Given the description of an element on the screen output the (x, y) to click on. 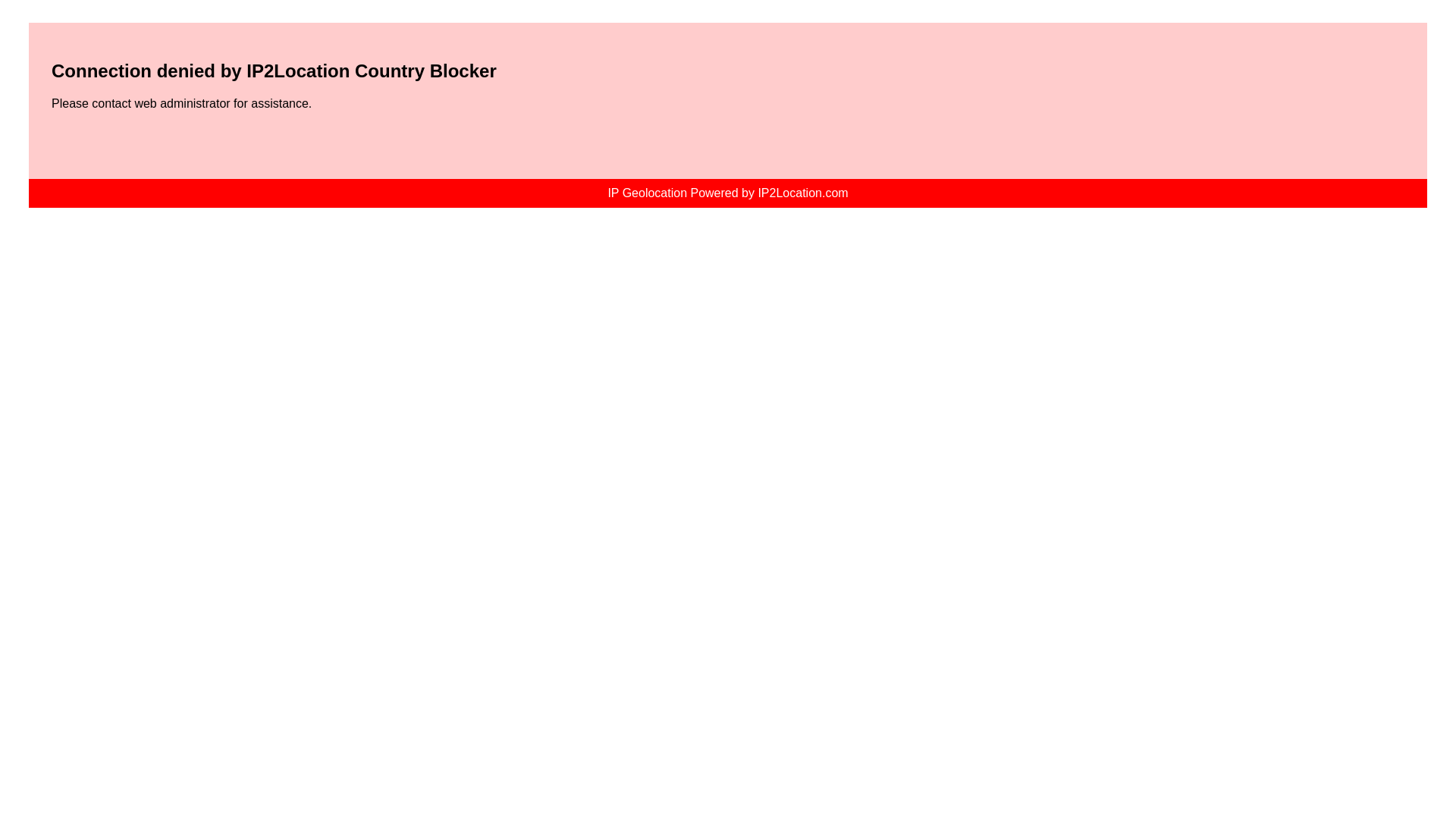
IP Geolocation Powered by IP2Location.com (727, 192)
